Given the description of an element on the screen output the (x, y) to click on. 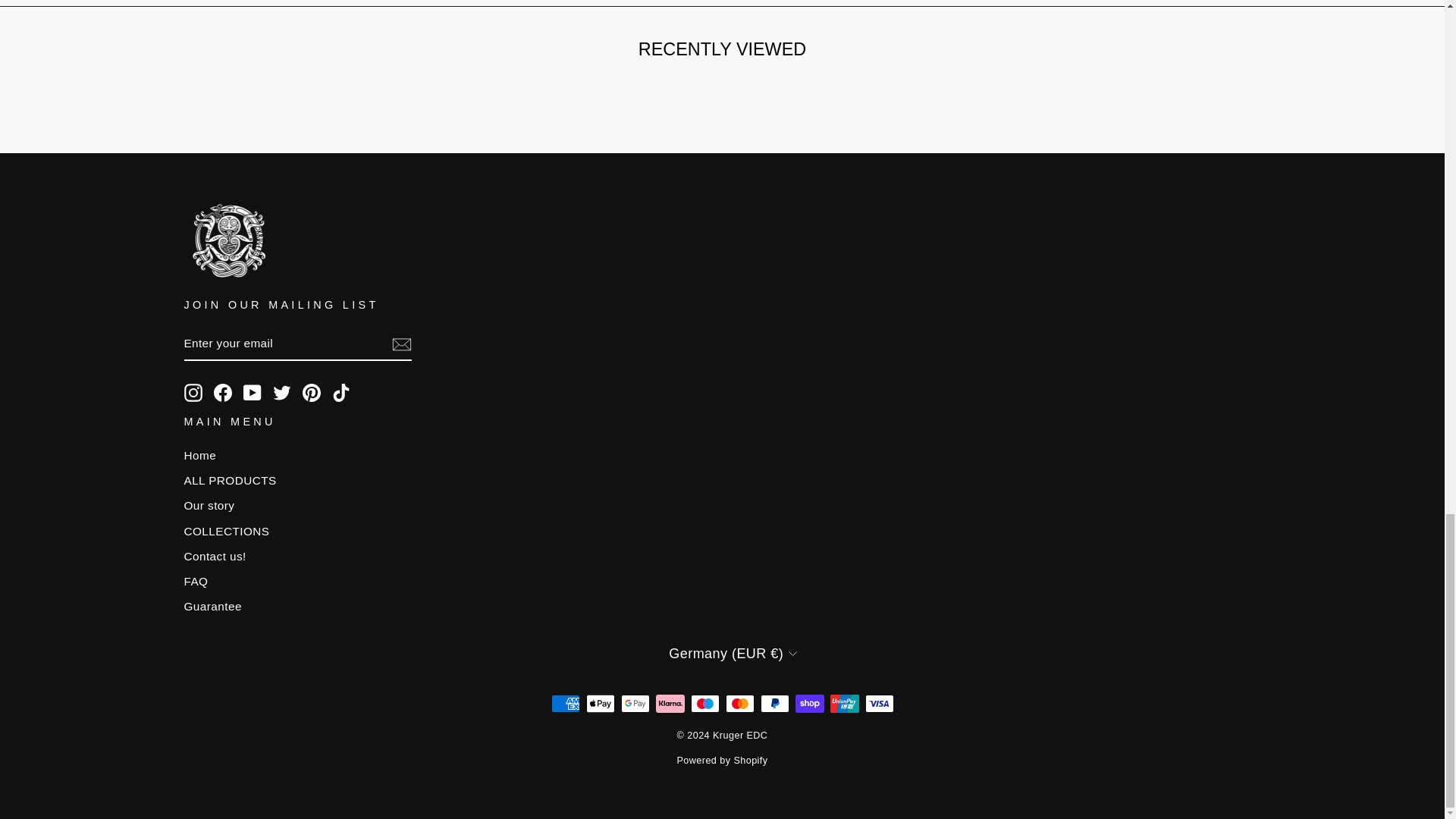
Kruger EDC on YouTube (251, 393)
Google Pay (634, 703)
Kruger EDC on Instagram (192, 393)
Kruger EDC on TikTok (340, 393)
American Express (564, 703)
Kruger EDC on Pinterest (310, 393)
Kruger EDC on Twitter (282, 393)
Kruger EDC on Facebook (222, 393)
Apple Pay (599, 703)
